Given the description of an element on the screen output the (x, y) to click on. 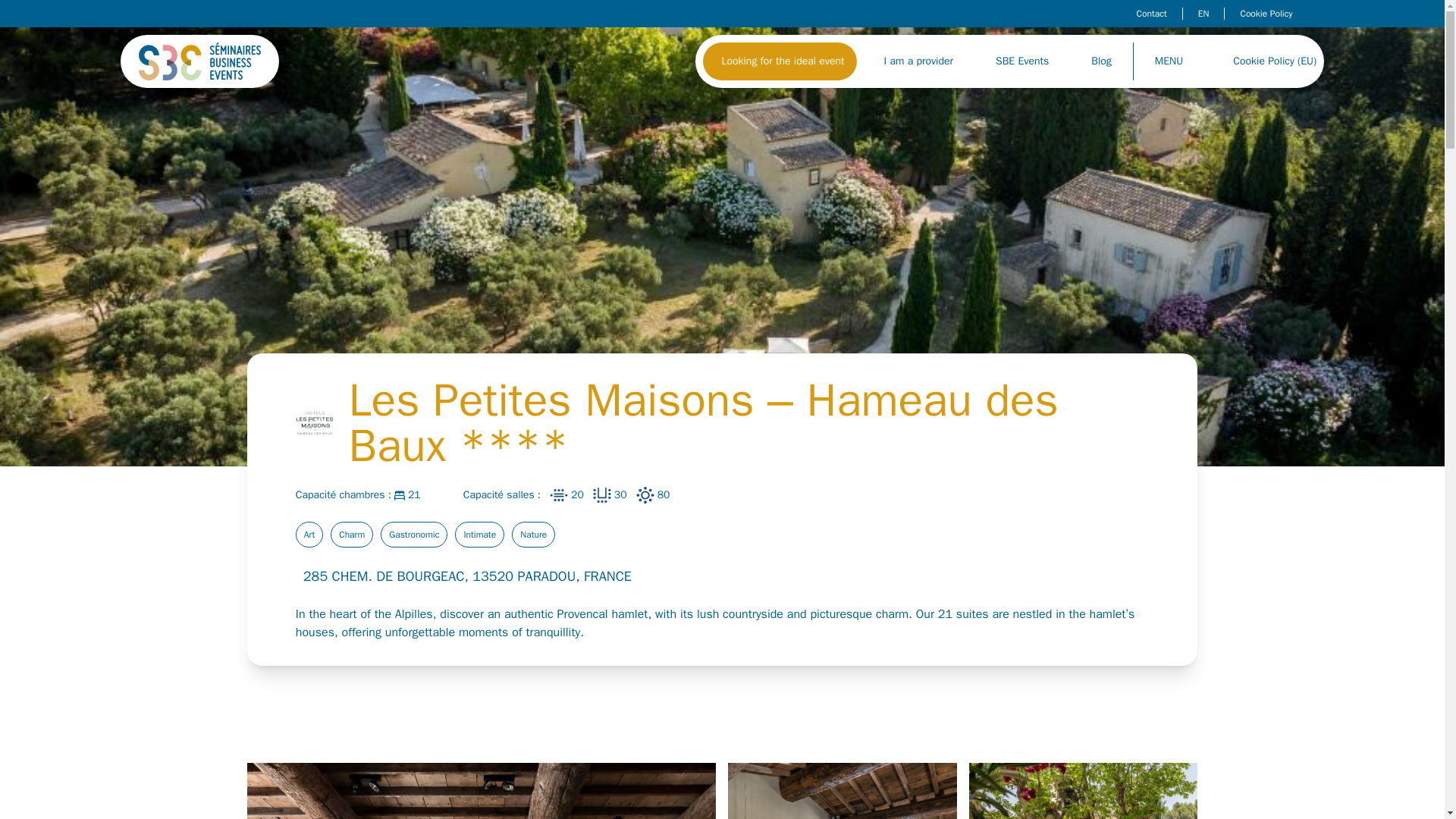
Cookie Policy (1266, 13)
I am a provider (915, 61)
See the gallery (481, 790)
EN (1203, 13)
MENU (1172, 61)
Contact (1152, 13)
SBE Events (1021, 61)
Looking for the ideal event (779, 61)
Blog (1101, 61)
